Given the description of an element on the screen output the (x, y) to click on. 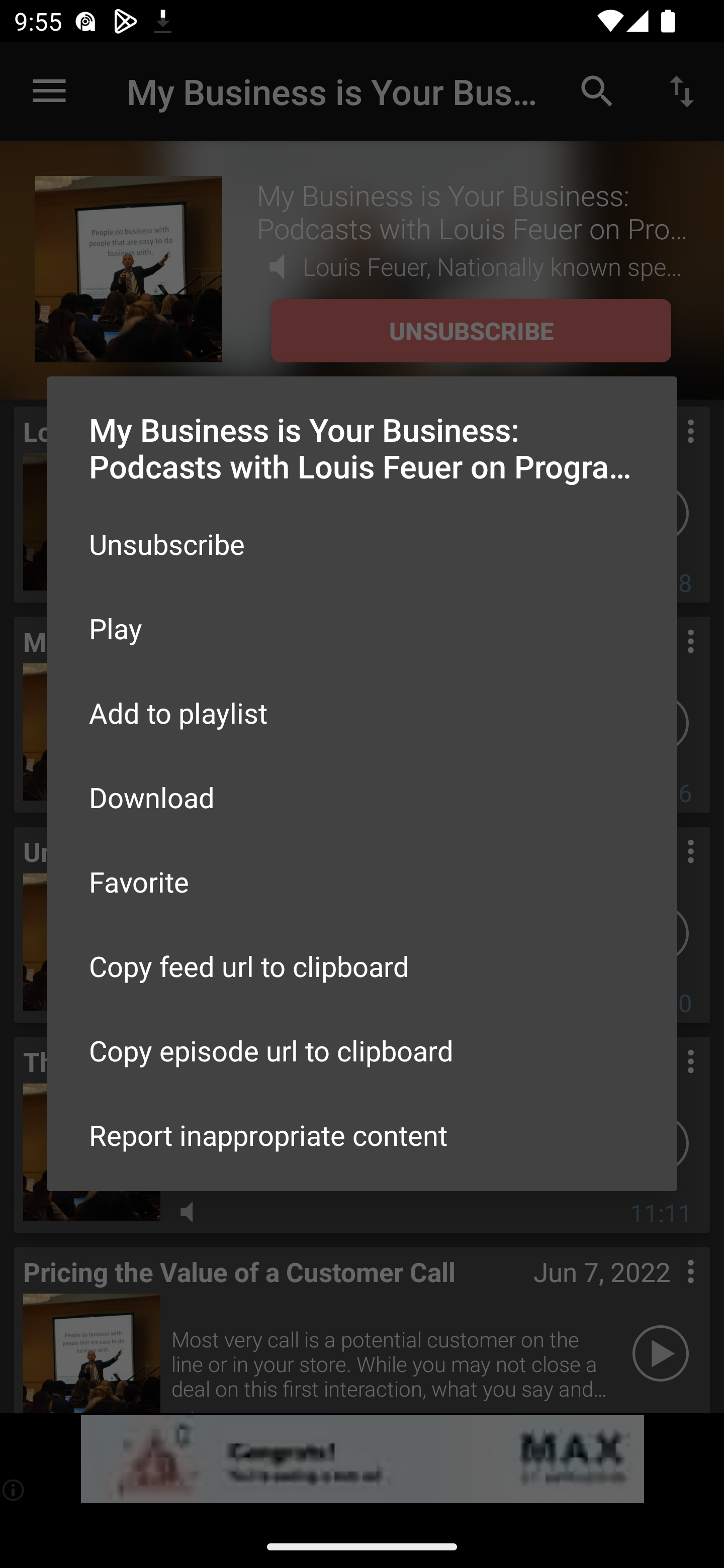
Unsubscribe (361, 543)
Play (361, 628)
Add to playlist (361, 712)
Download (361, 796)
Favorite (361, 880)
Copy feed url to clipboard (361, 965)
Copy episode url to clipboard (361, 1050)
Report inappropriate content (361, 1134)
